Given the description of an element on the screen output the (x, y) to click on. 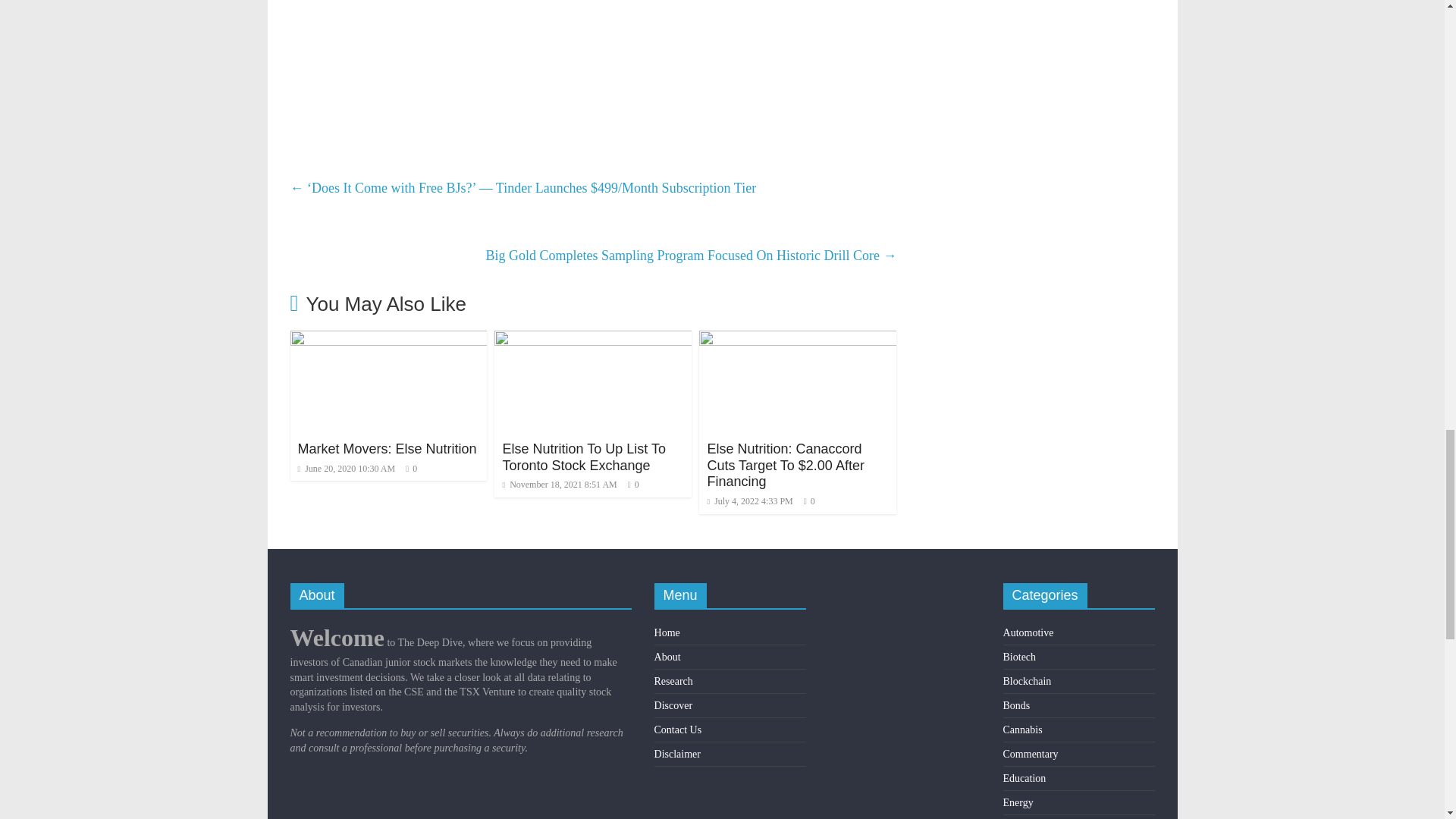
10:30 am (345, 468)
Comment Form (592, 74)
Market Movers: Else Nutrition (387, 339)
Market Movers: Else Nutrition (386, 448)
